Given the description of an element on the screen output the (x, y) to click on. 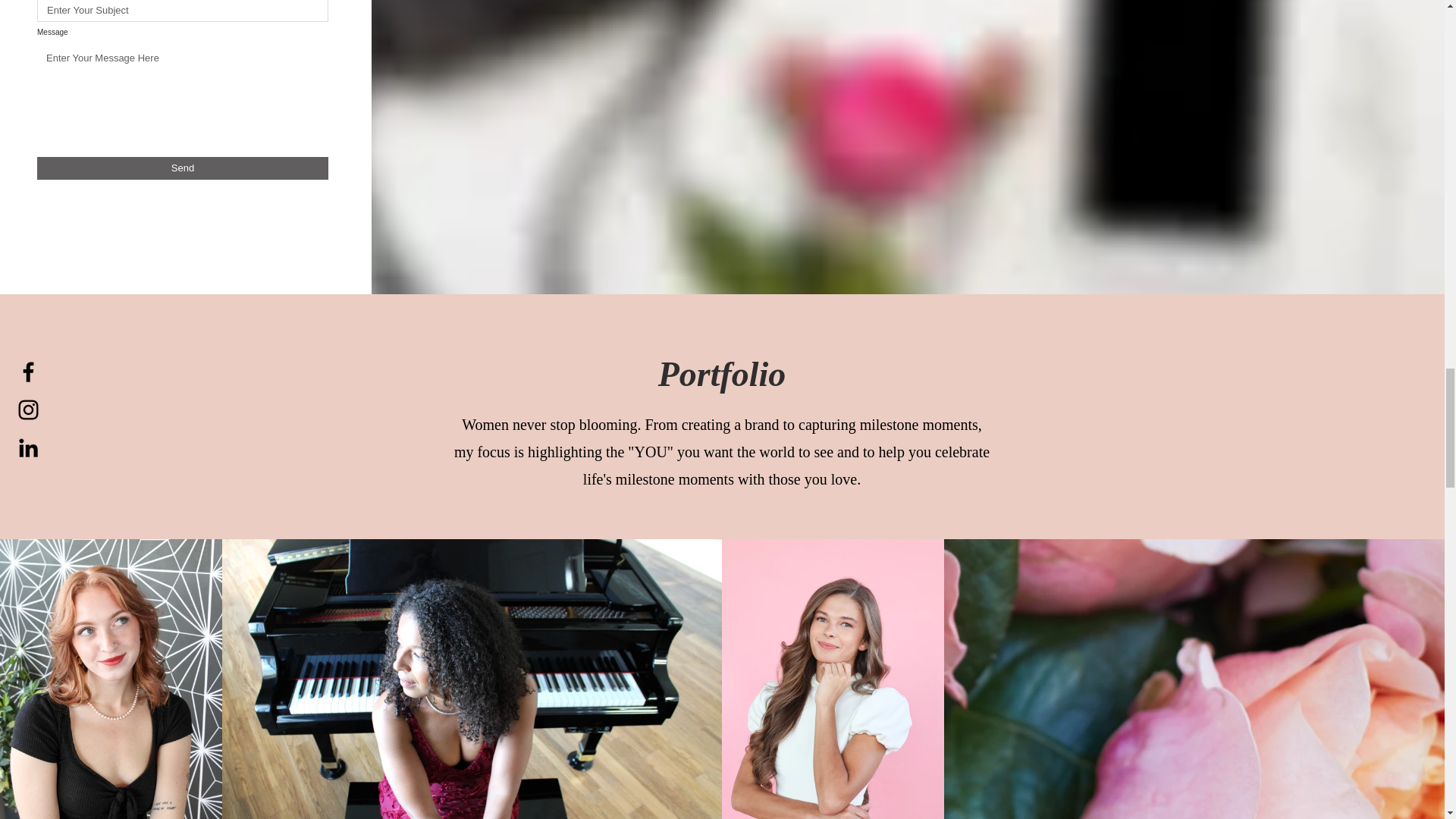
Send (183, 168)
